Given the description of an element on the screen output the (x, y) to click on. 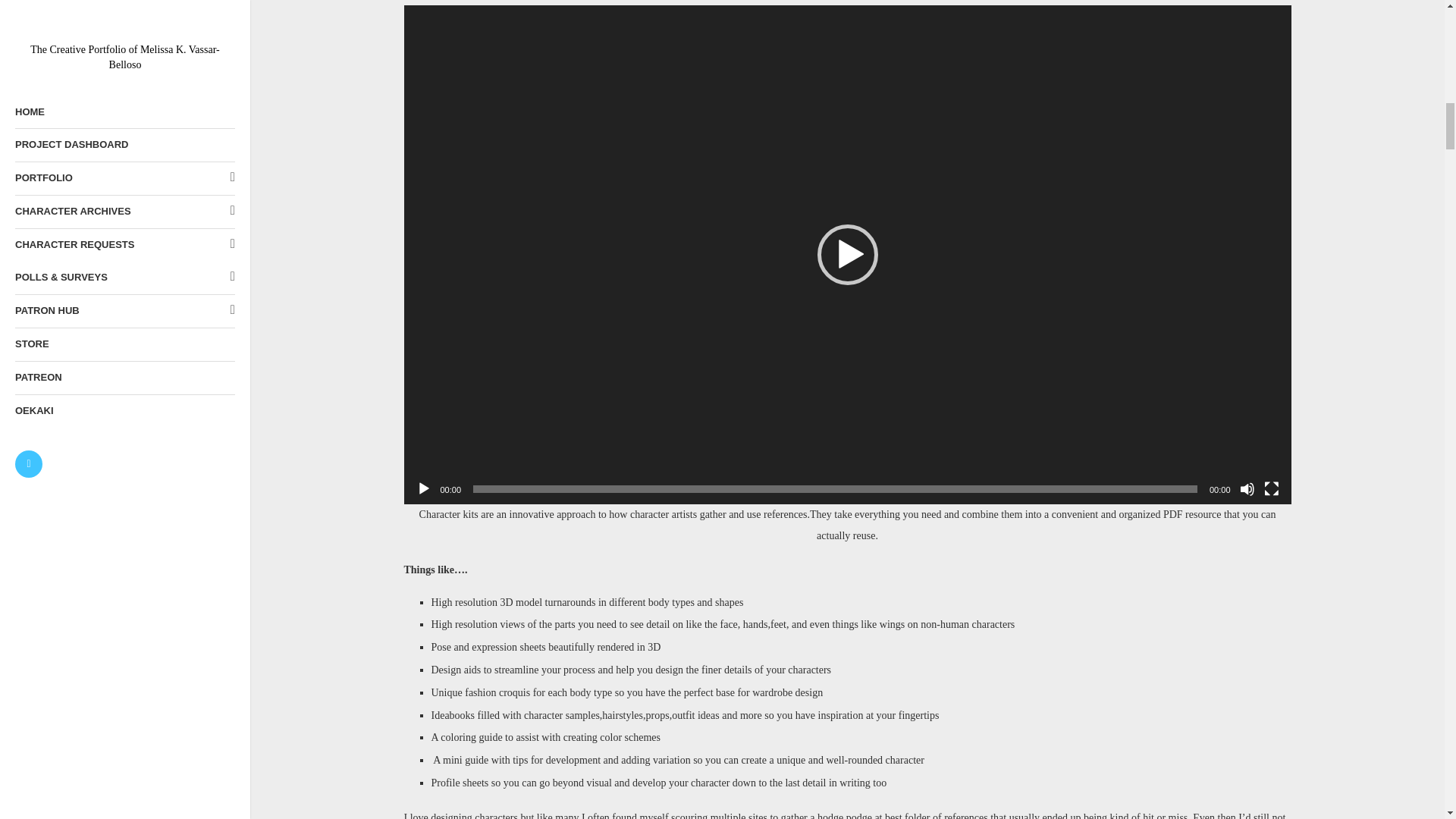
Mute (1246, 488)
Play (422, 488)
Fullscreen (1270, 488)
